Given the description of an element on the screen output the (x, y) to click on. 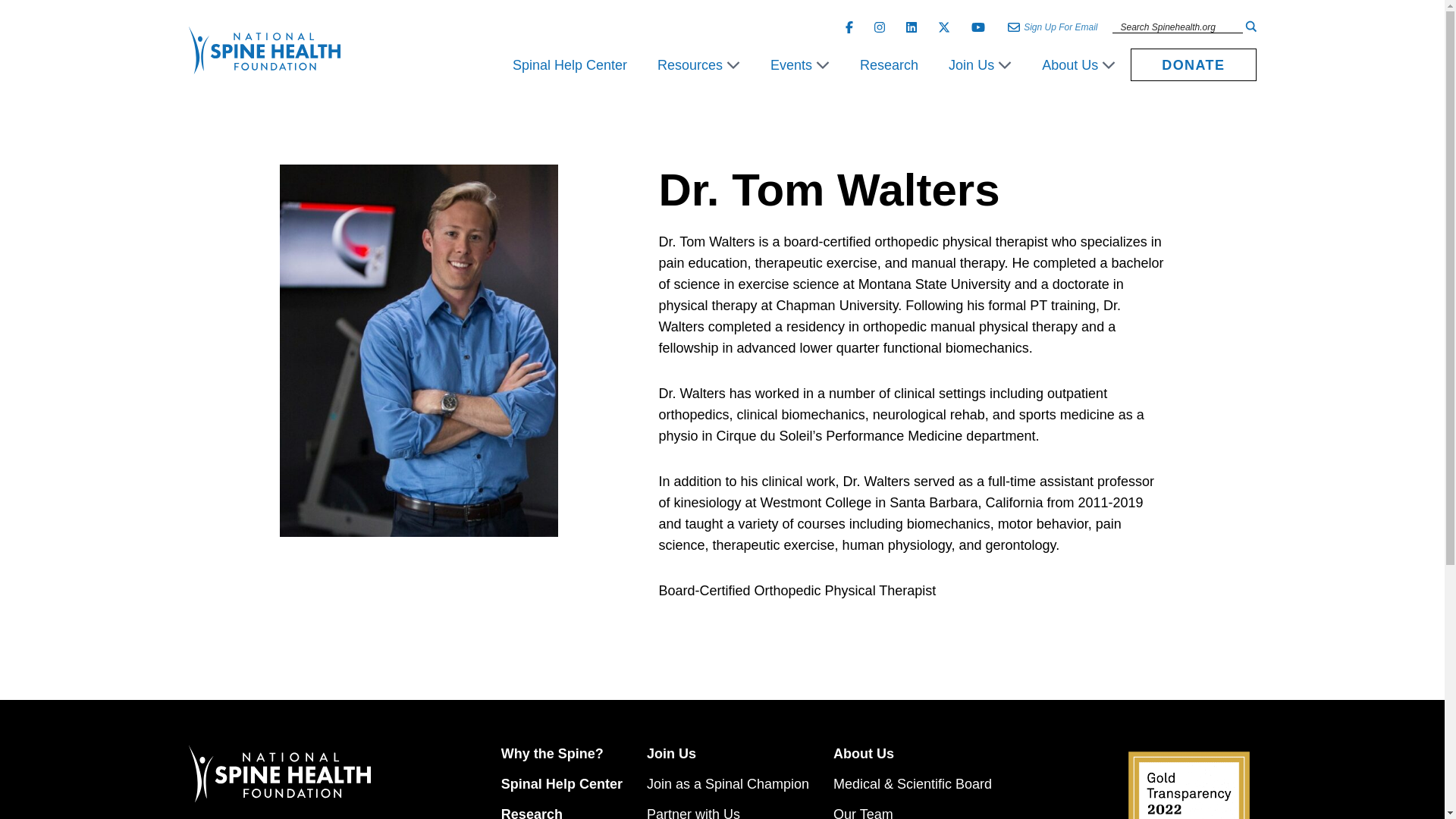
Join Us (979, 65)
Research (888, 65)
Spinal Help Center (569, 65)
Spinal Help Center (569, 65)
Sign Up For Email (1060, 27)
About Us (1078, 65)
Join Us (979, 65)
Events (799, 65)
Events (799, 65)
Resources (698, 65)
Research (888, 65)
Resources (698, 65)
